Given the description of an element on the screen output the (x, y) to click on. 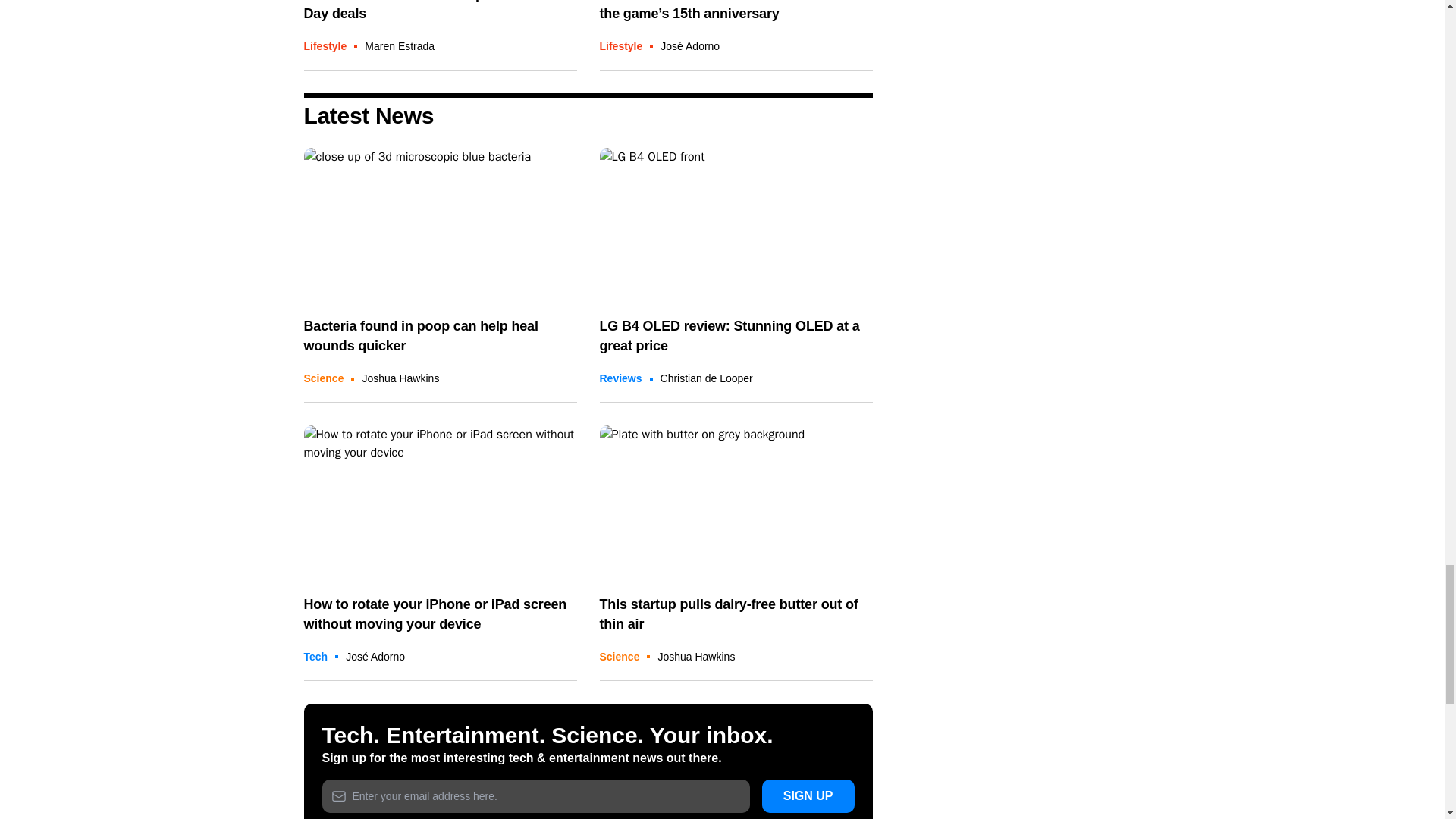
dairy-free butter (735, 502)
good bacteria (439, 225)
Posts by Joshua Hawkins (400, 378)
Posts by Maren Estrada (399, 46)
LG B4 OLED Review (735, 225)
Posts by Joshua Hawkins (696, 656)
Posts by Christian de Looper (706, 378)
